Given the description of an element on the screen output the (x, y) to click on. 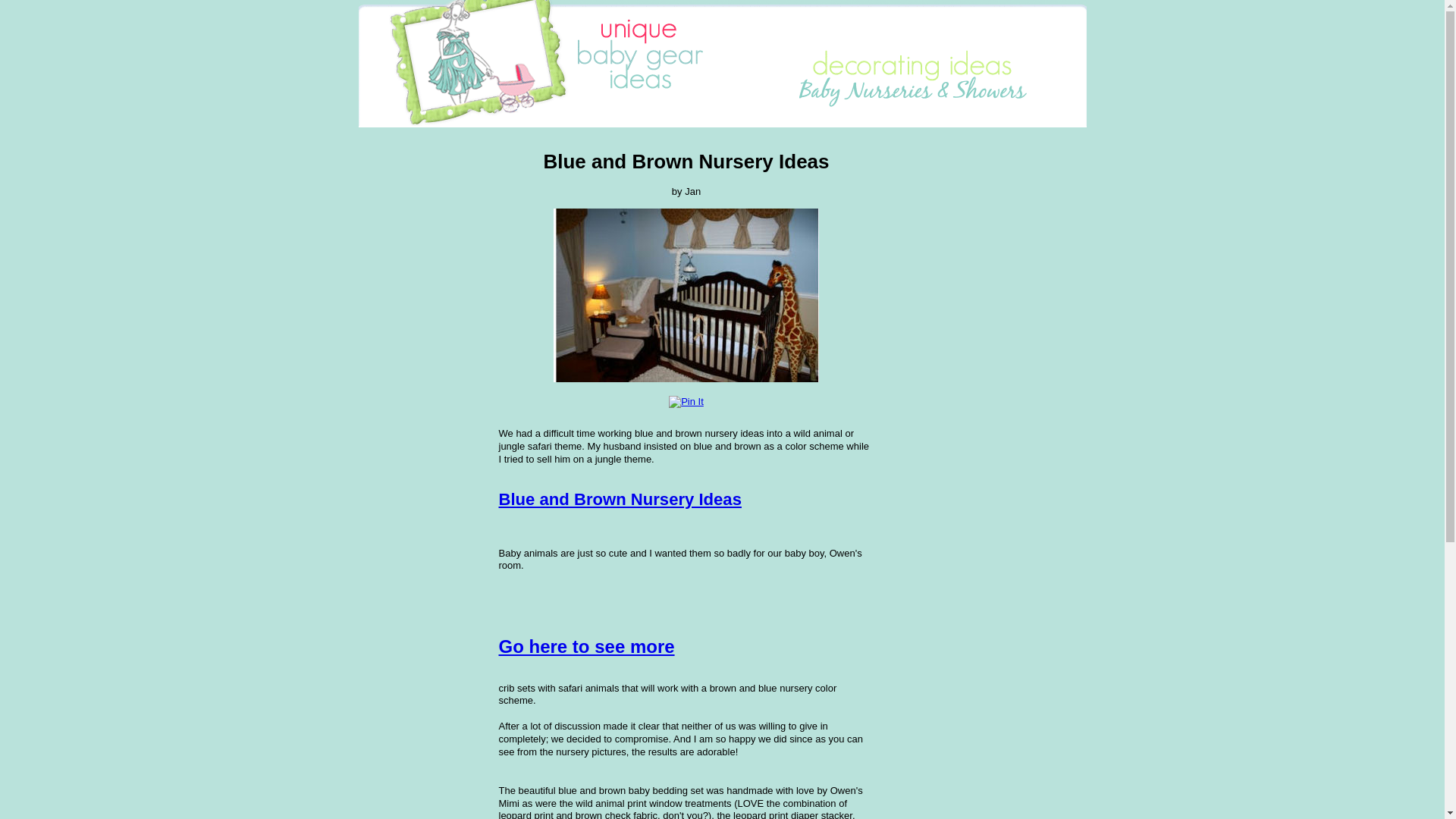
Blue and Brown Nursery Ideas (620, 498)
Go here to see more (587, 646)
Pin It (685, 401)
